Given the description of an element on the screen output the (x, y) to click on. 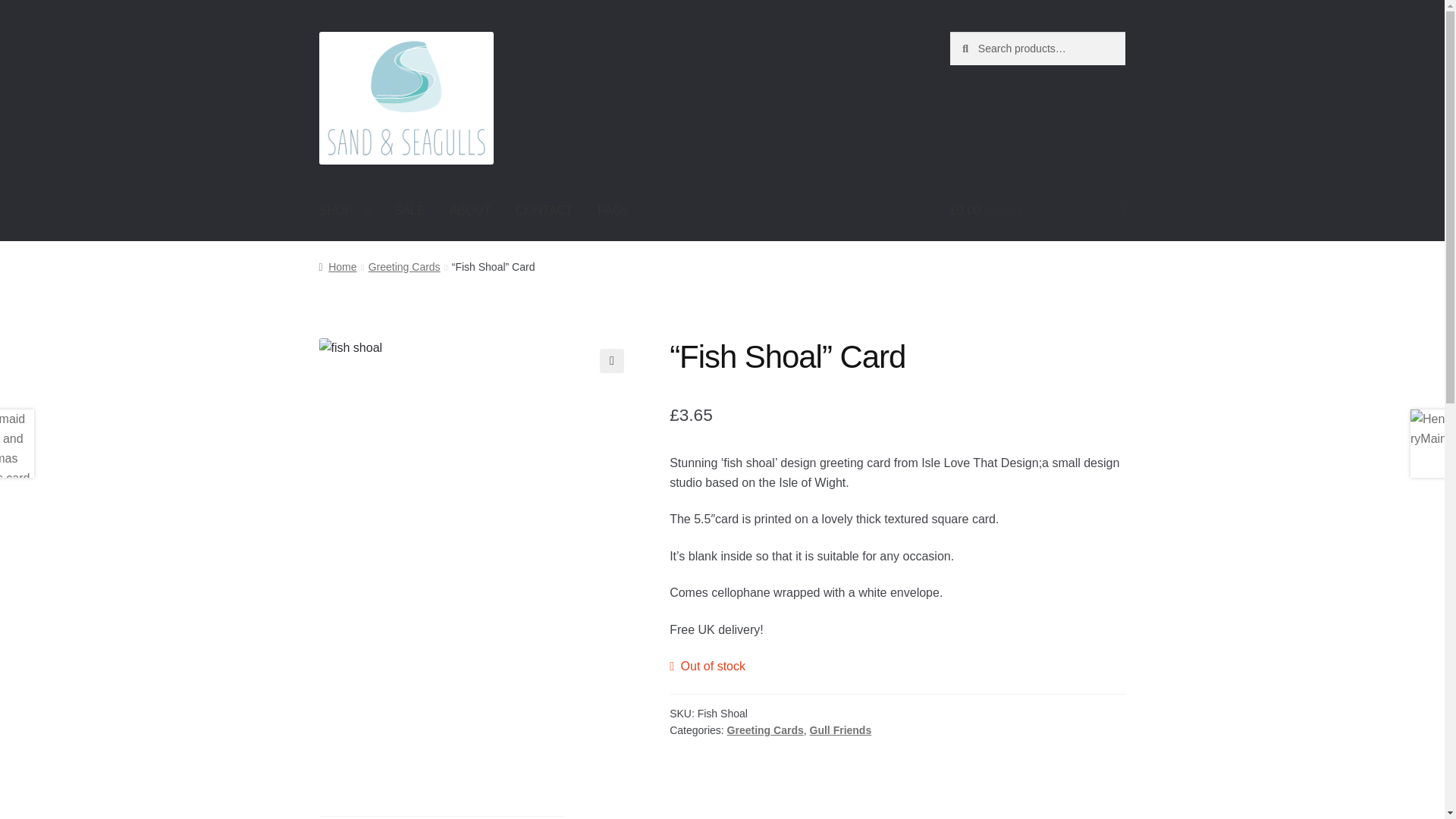
fish shoal (476, 495)
View your shopping cart (1037, 210)
FAQs (612, 210)
CONTACT (544, 210)
SHOP (344, 210)
ABOUT (470, 210)
SALE (409, 210)
